Given the description of an element on the screen output the (x, y) to click on. 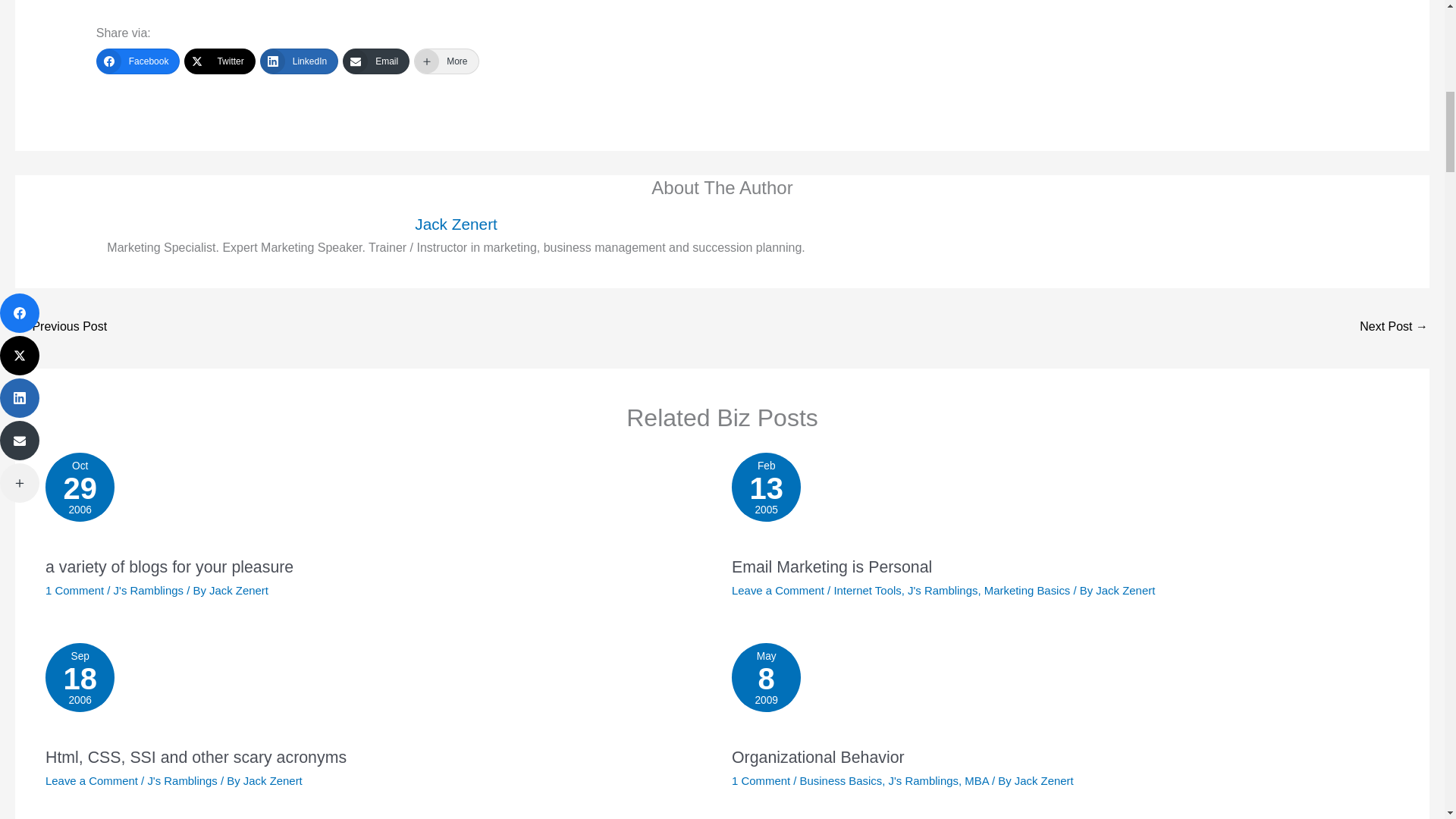
View all posts by Jack Zenert (1044, 780)
Organizational Behavior (818, 757)
LinkedIn (379, 499)
Scared... Life and Business (298, 61)
1 Comment (61, 327)
More (74, 590)
Leave a Comment (446, 61)
Jack Zenert (91, 780)
Email Marketing is Personal (272, 780)
